Given the description of an element on the screen output the (x, y) to click on. 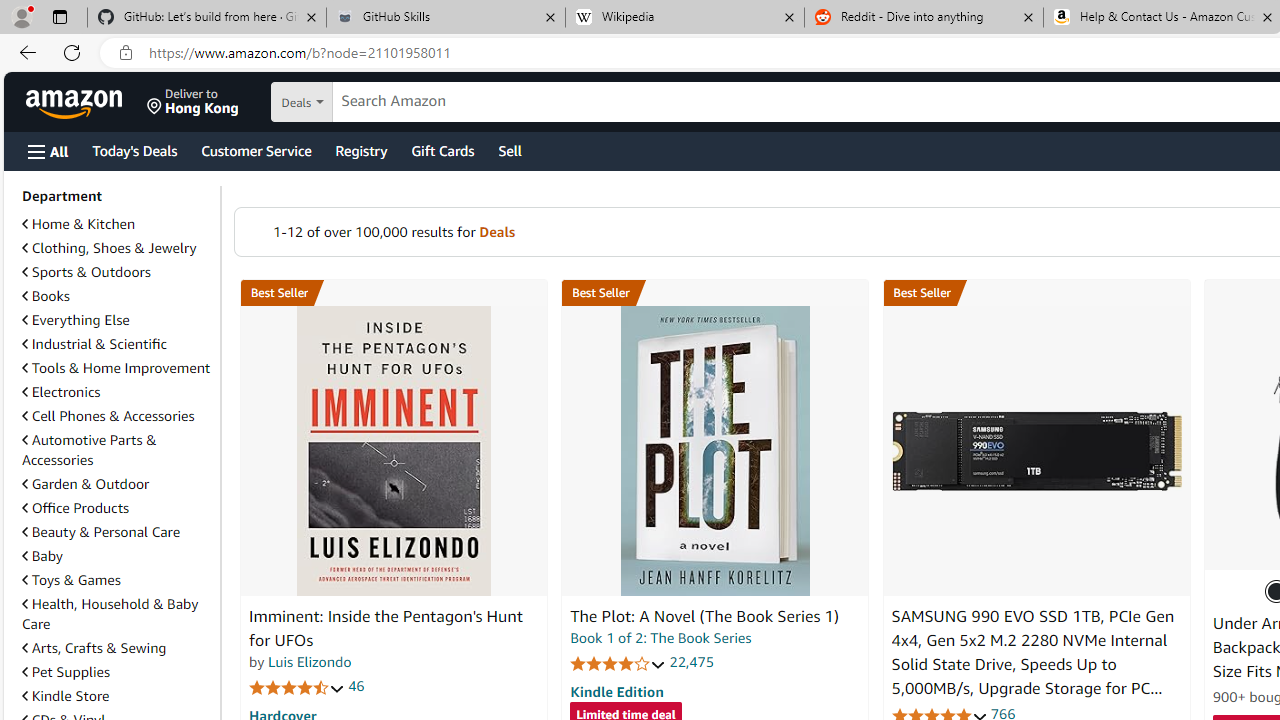
Clothing, Shoes & Jewelry (117, 247)
Health, Household & Baby Care (117, 614)
Everything Else (117, 319)
Toys & Games (71, 579)
46 (356, 686)
Garden & Outdoor (85, 484)
Customer Service (256, 150)
Sports & Outdoors (86, 271)
Tools & Home Improvement (116, 368)
Electronics (117, 391)
Cell Phones & Accessories (117, 416)
The Plot: A Novel (The Book Series 1) (703, 616)
Baby (117, 555)
Home & Kitchen (78, 224)
